Given the description of an element on the screen output the (x, y) to click on. 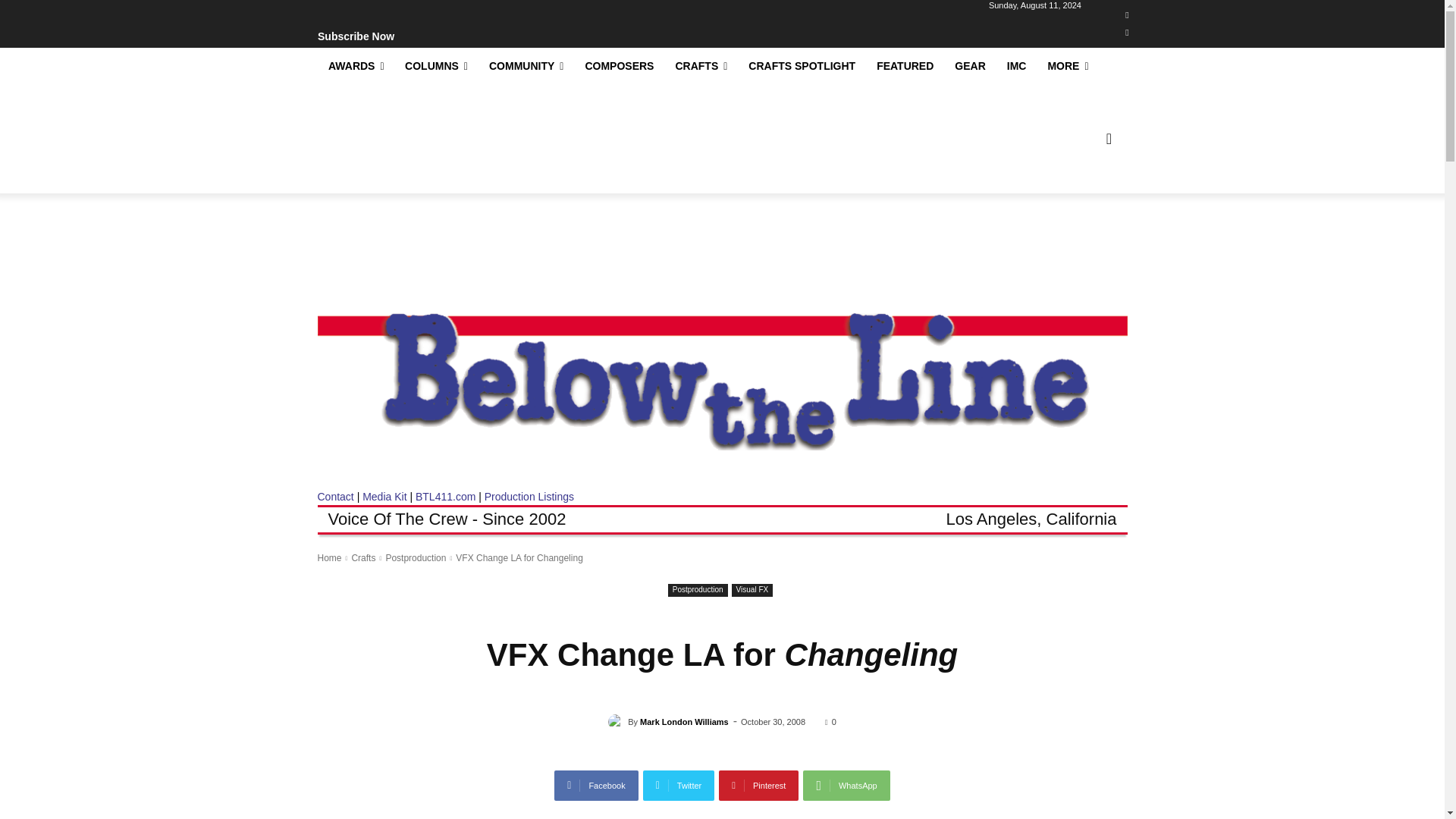
Facebook (595, 785)
Twitter (1126, 32)
Facebook (1126, 15)
View all posts in Postproduction (415, 557)
Pinterest (758, 785)
Twitter (678, 785)
WhatsApp (846, 785)
Mark London Williams (617, 721)
View all posts in Crafts (362, 557)
